Given the description of an element on the screen output the (x, y) to click on. 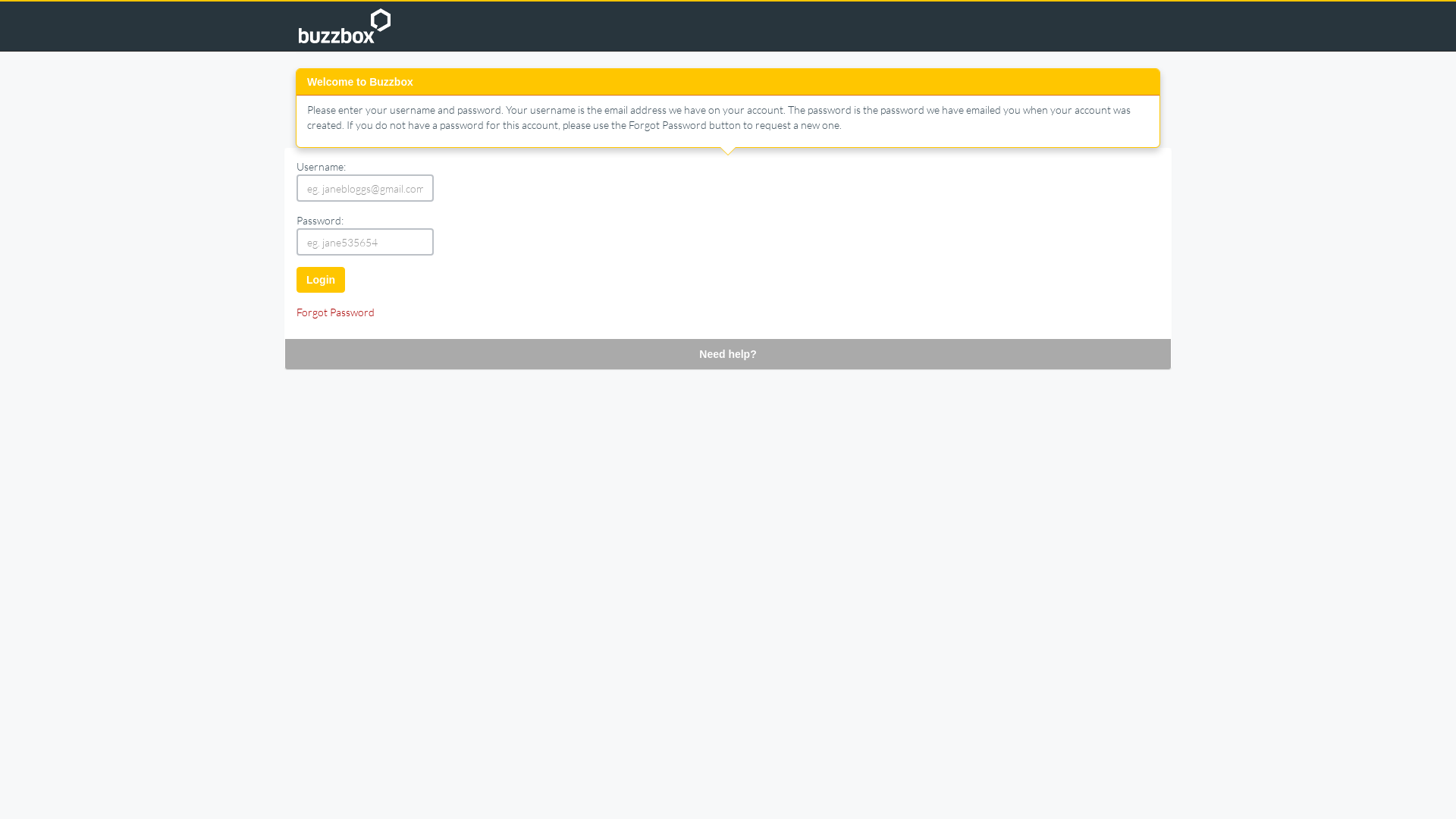
Login Element type: text (320, 279)
Forgot Password Element type: text (335, 311)
Need help? Element type: text (727, 353)
